Given the description of an element on the screen output the (x, y) to click on. 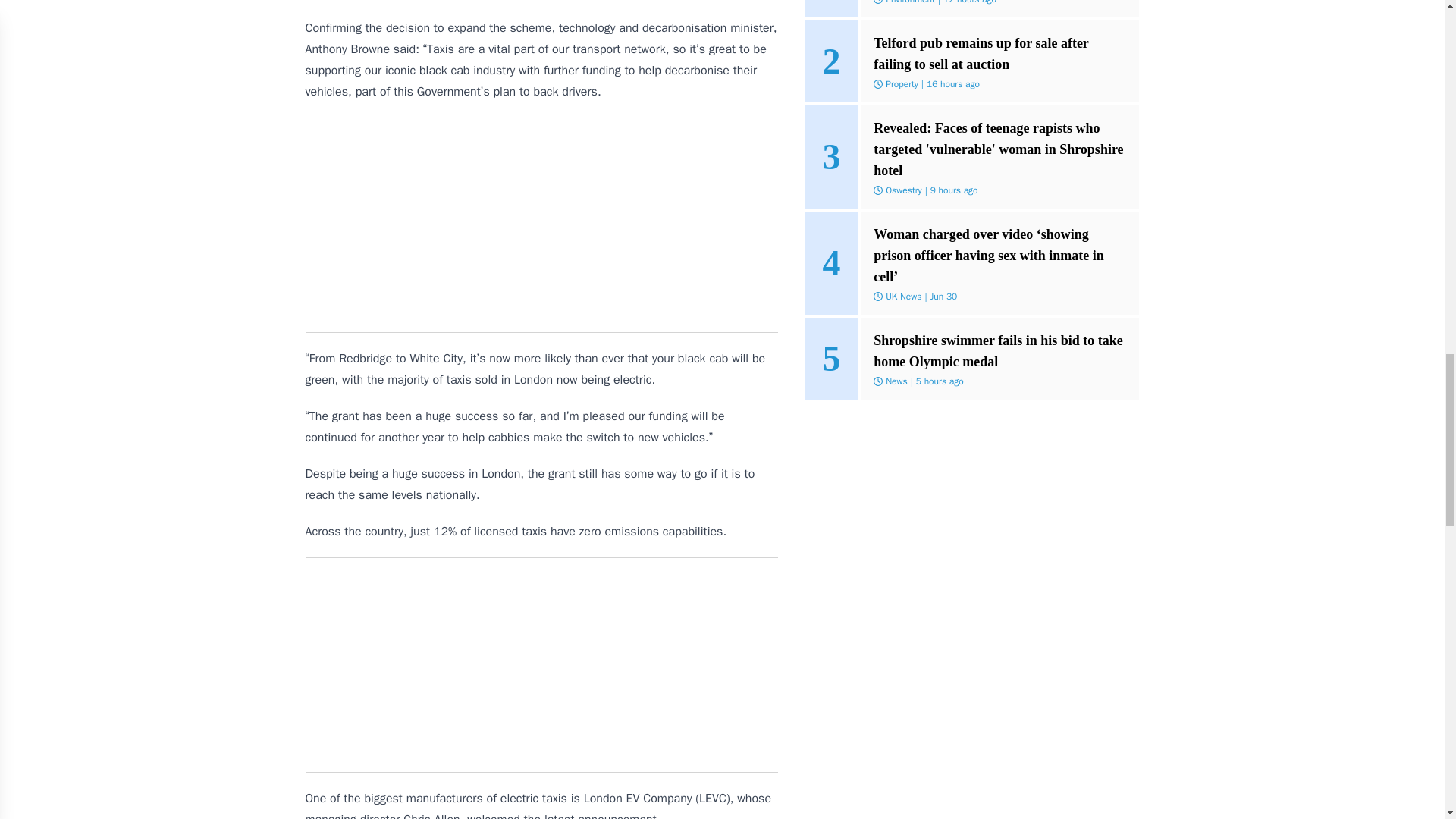
UK News (903, 296)
Property (901, 83)
News (896, 381)
Environment (909, 2)
Oswestry (903, 190)
